Given the description of an element on the screen output the (x, y) to click on. 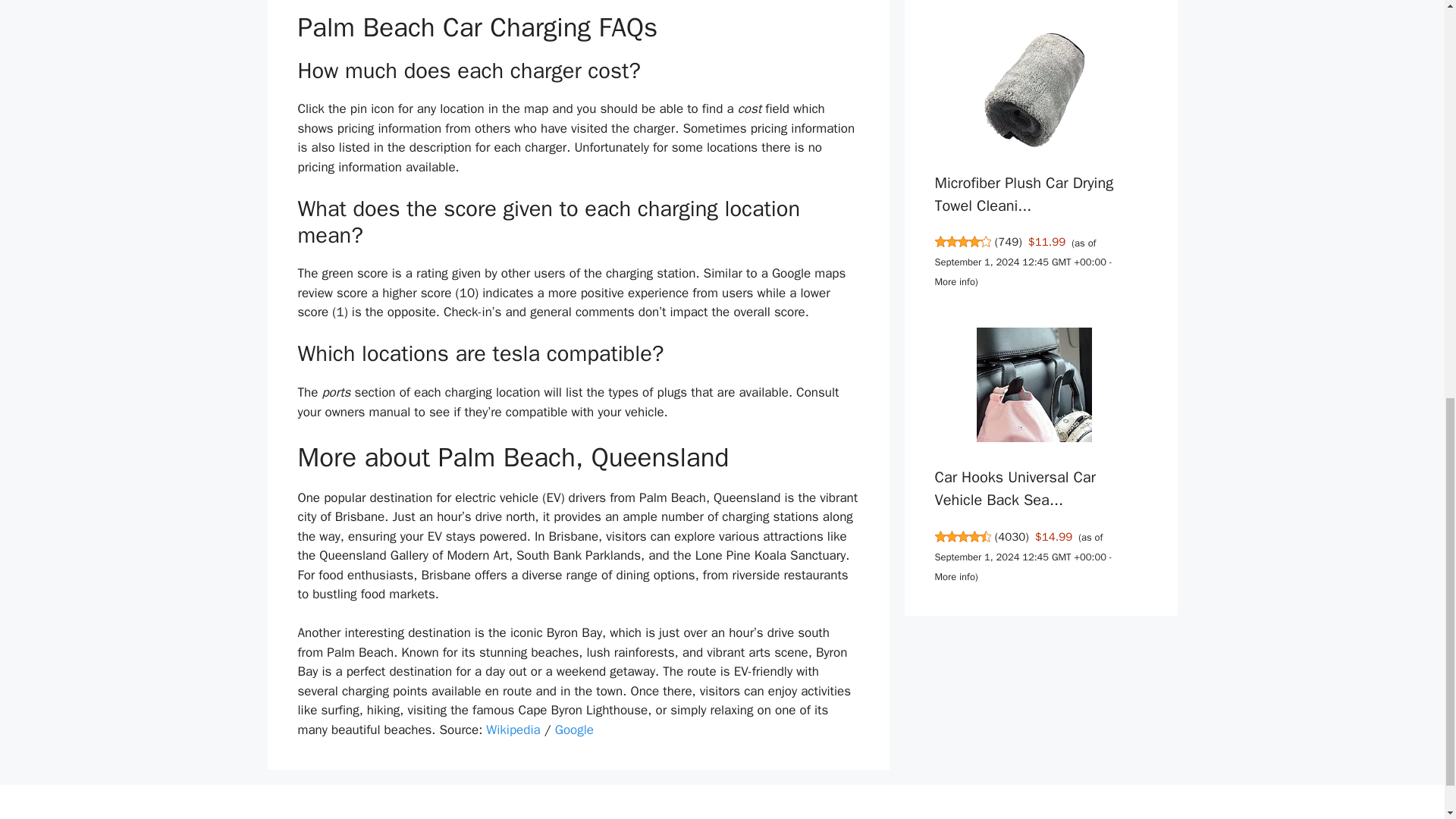
Car Hooks Universal Car Vehicle Back Sea...:  (1015, 488)
Car Hooks Universal Car Vehicle Back Sea...:  (1034, 387)
Microfiber Plush Car Drying Towel Cleani...:  (1034, 91)
Microfiber Plush Car Drying Towel Cleani...:  (1023, 194)
